Given the description of an element on the screen output the (x, y) to click on. 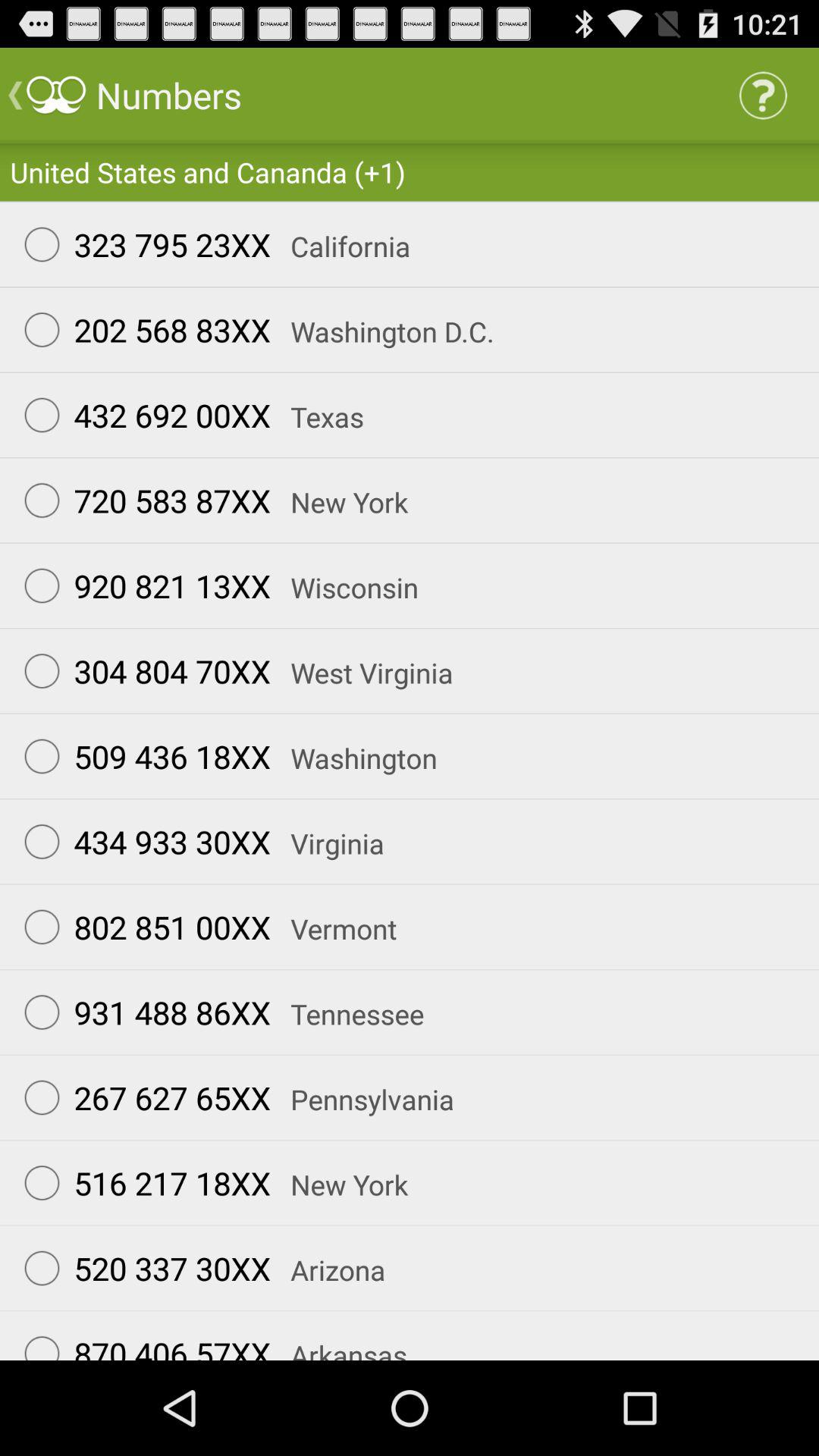
choose radio button below 920 821 13xx icon (140, 670)
